Given the description of an element on the screen output the (x, y) to click on. 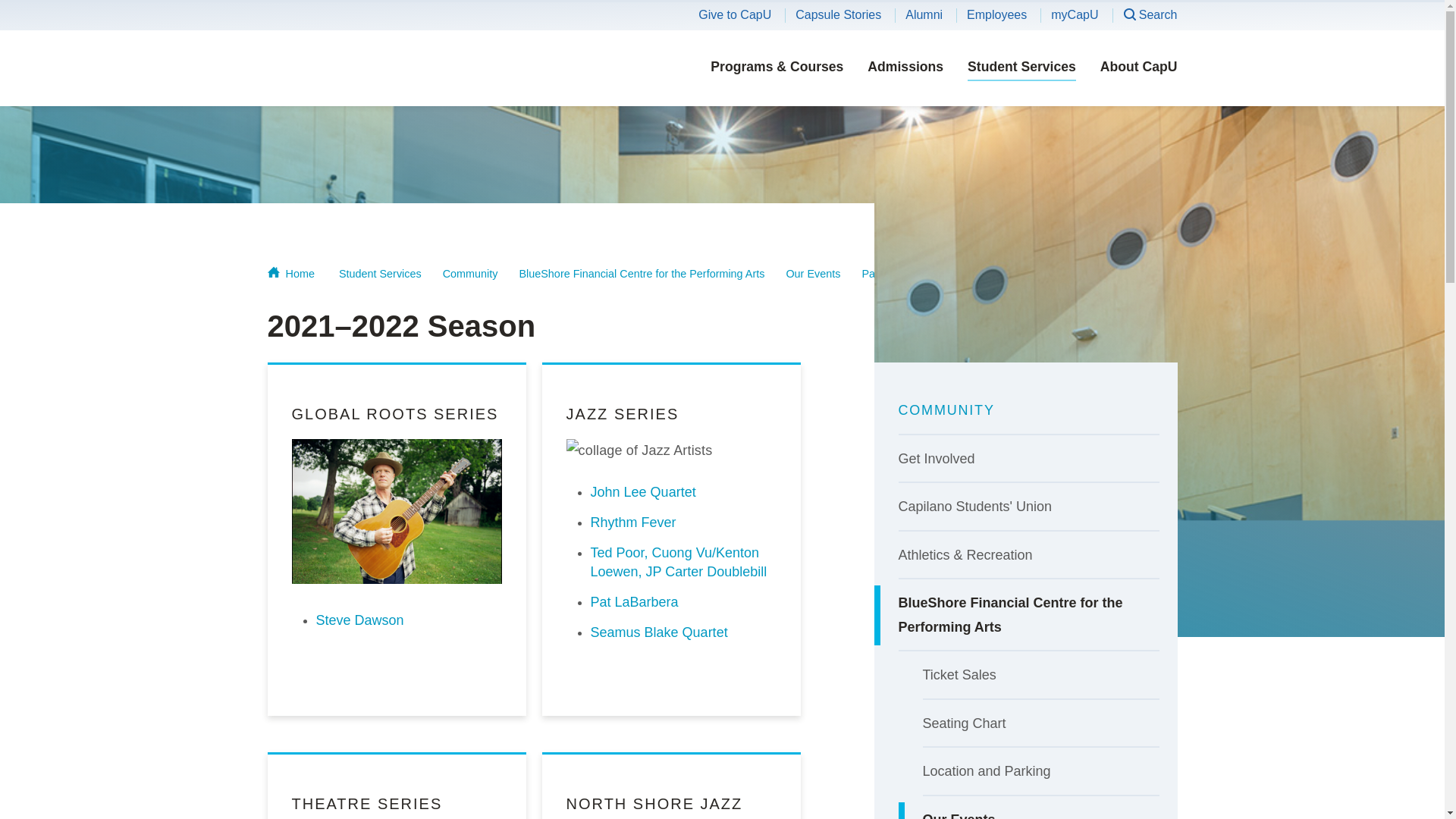
Capsule Stories (837, 14)
Give to CapU (734, 14)
Employees (996, 14)
Capilano University (387, 67)
myCapU (1074, 14)
Search (1150, 15)
Alumni (923, 14)
